Given the description of an element on the screen output the (x, y) to click on. 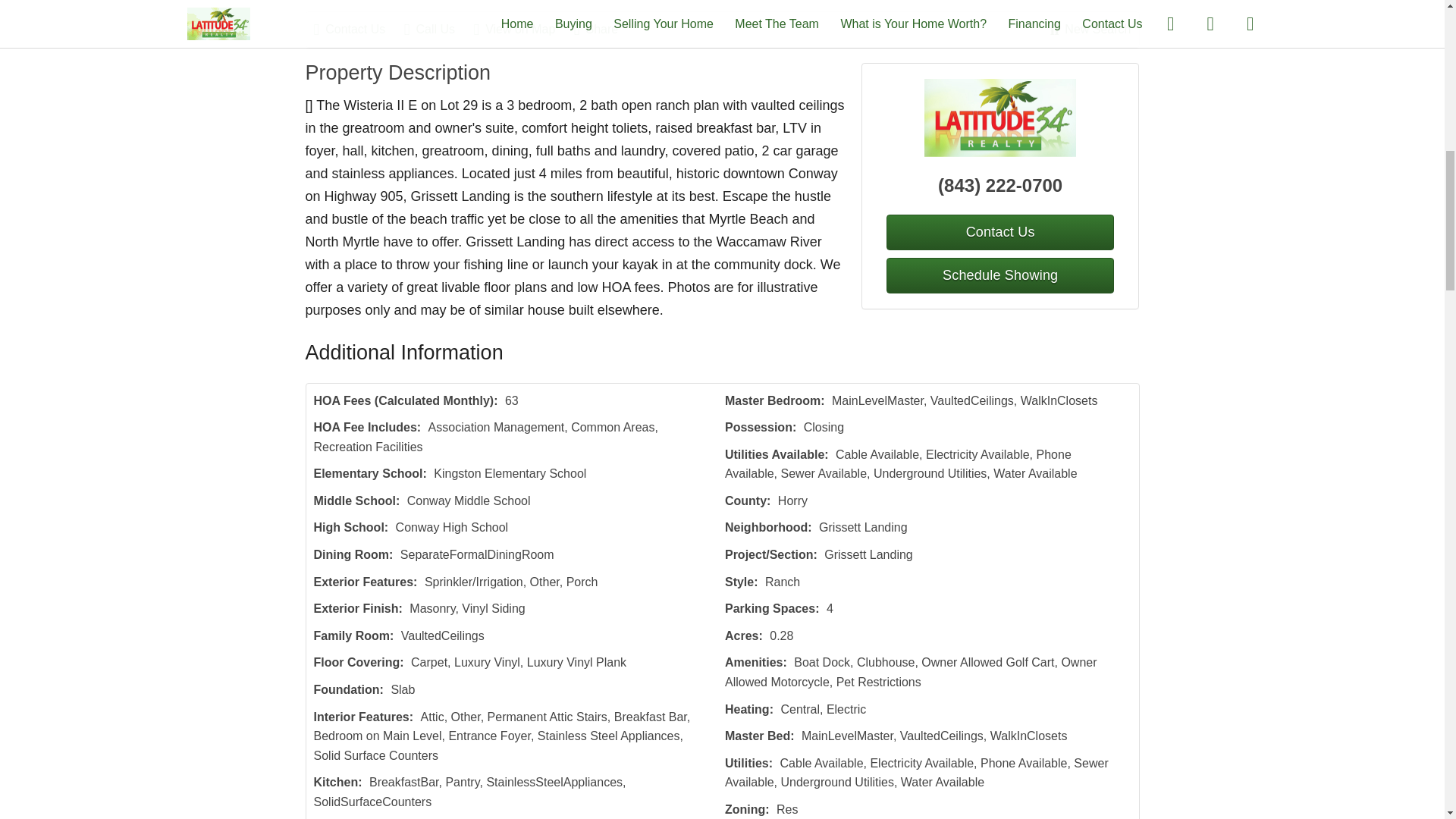
Contact Us (357, 29)
Call Us (437, 29)
Contact Us (999, 232)
View on Map (521, 29)
New Search (1090, 29)
Share (603, 29)
